Given the description of an element on the screen output the (x, y) to click on. 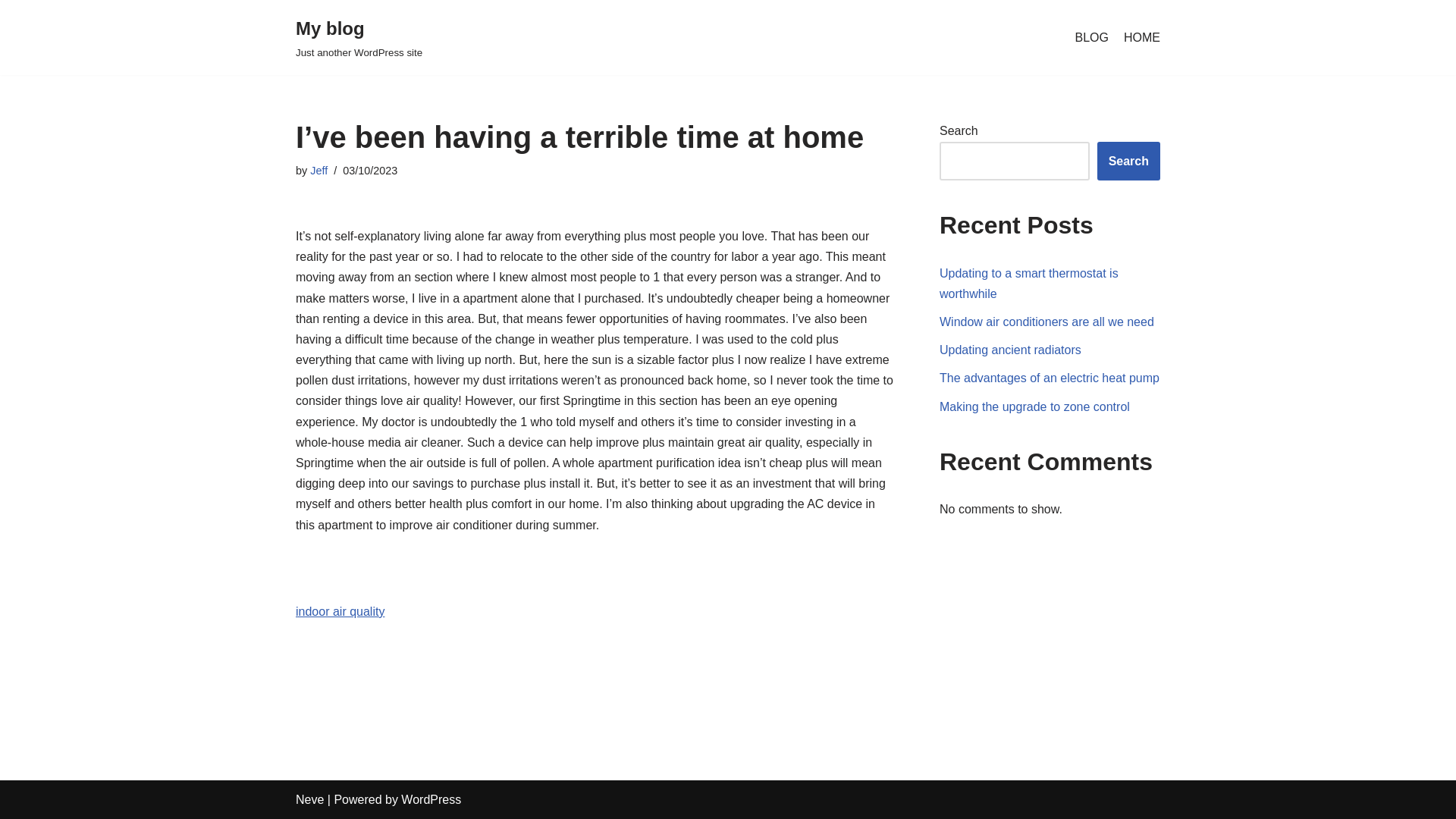
BLOG (1091, 37)
Search (1128, 160)
Updating to a smart thermostat is worthwhile (1028, 283)
WordPress (431, 799)
indoor air quality (339, 611)
HOME (1142, 37)
My blog (358, 37)
Posts by Jeff (318, 170)
Skip to content (11, 31)
Jeff (318, 170)
Updating ancient radiators (358, 37)
Window air conditioners are all we need (1010, 349)
Making the upgrade to zone control (1046, 321)
Neve (1034, 406)
